Given the description of an element on the screen output the (x, y) to click on. 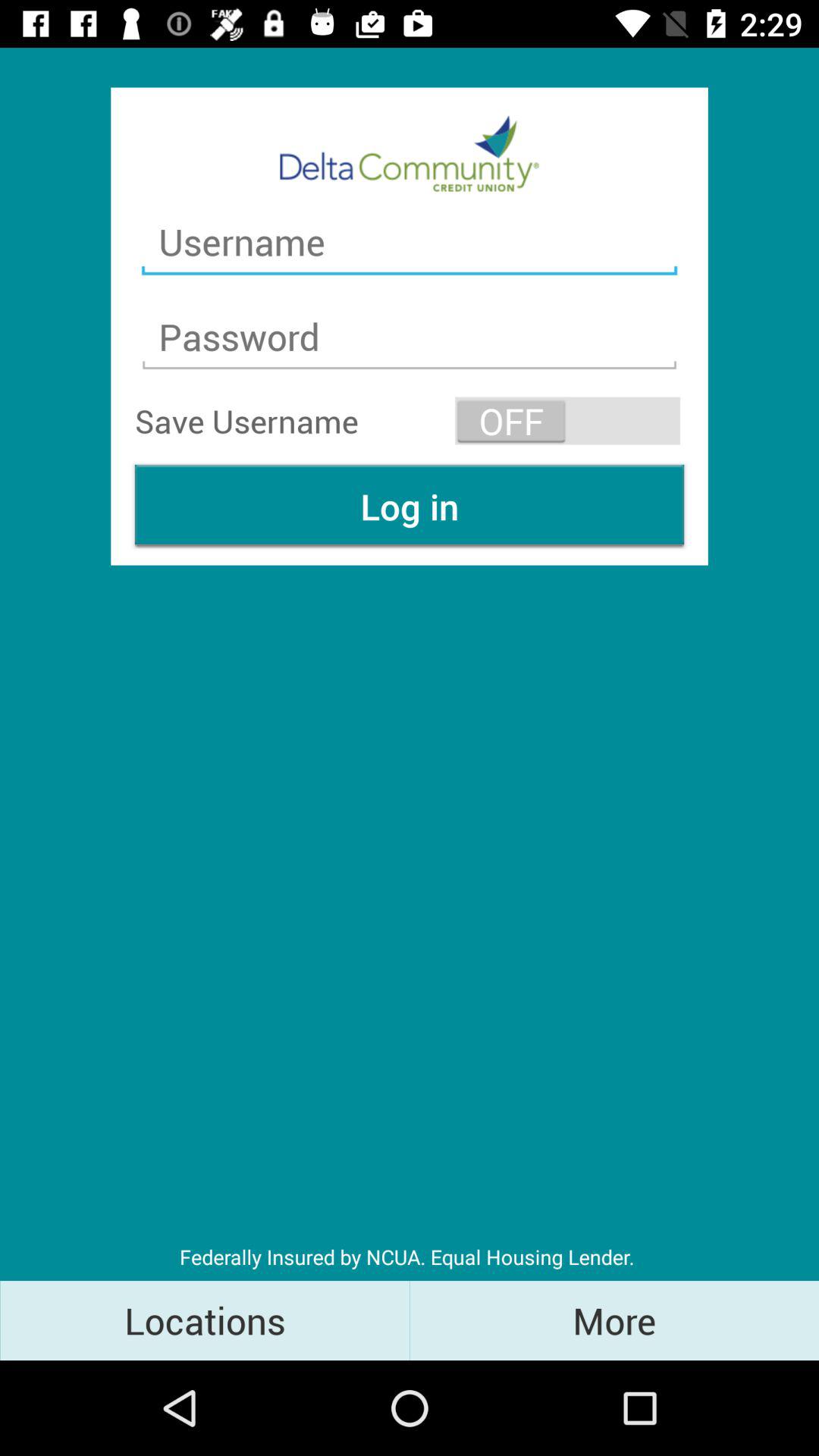
turn on the log in at the center (409, 506)
